Given the description of an element on the screen output the (x, y) to click on. 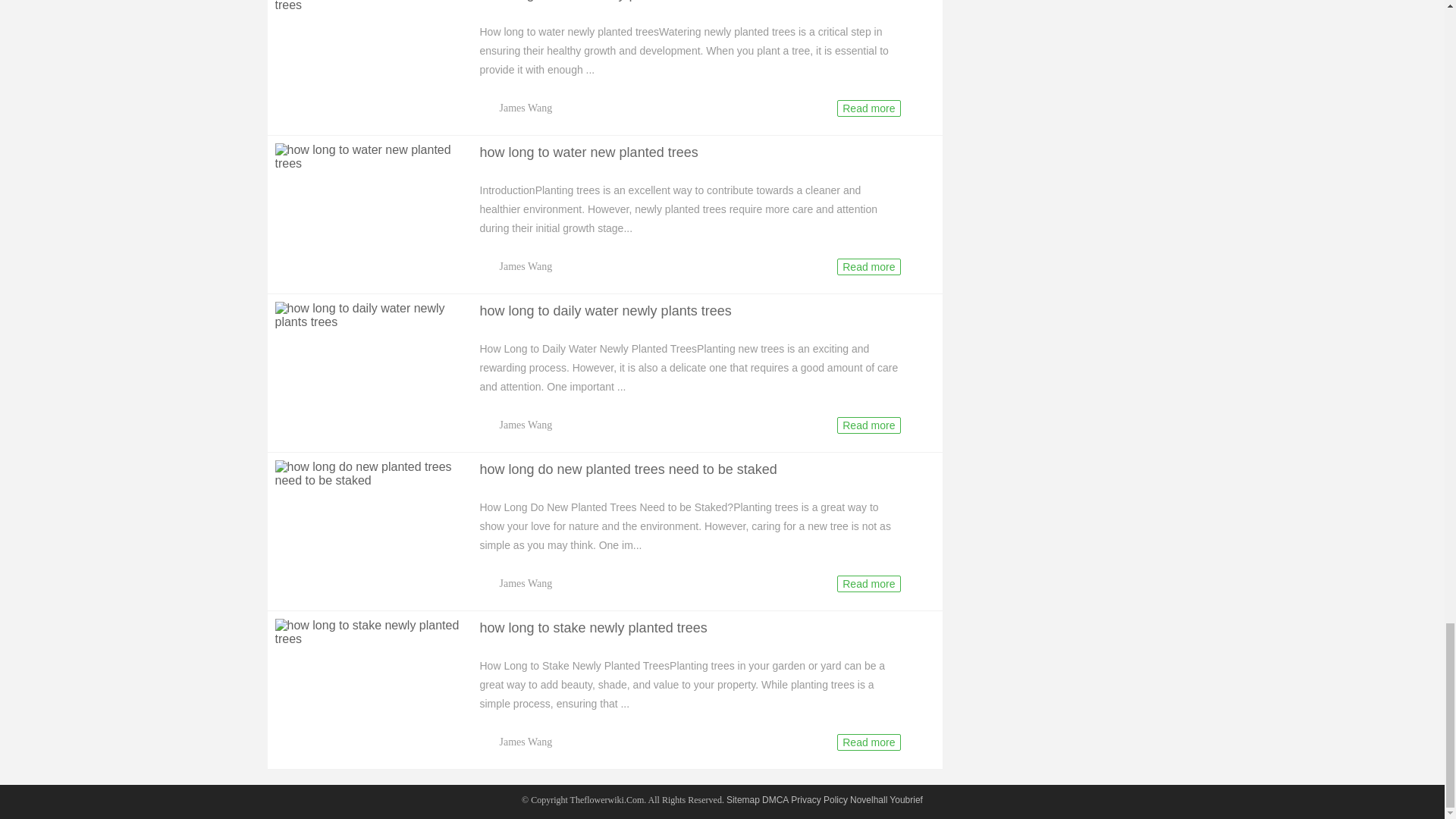
how long to stake newly planted trees (369, 632)
how long to water new planted trees (369, 156)
how long do new planted trees need to be staked (369, 473)
how long to daily water newly plants trees (369, 315)
how long to water newly planted trees (369, 6)
